Given the description of an element on the screen output the (x, y) to click on. 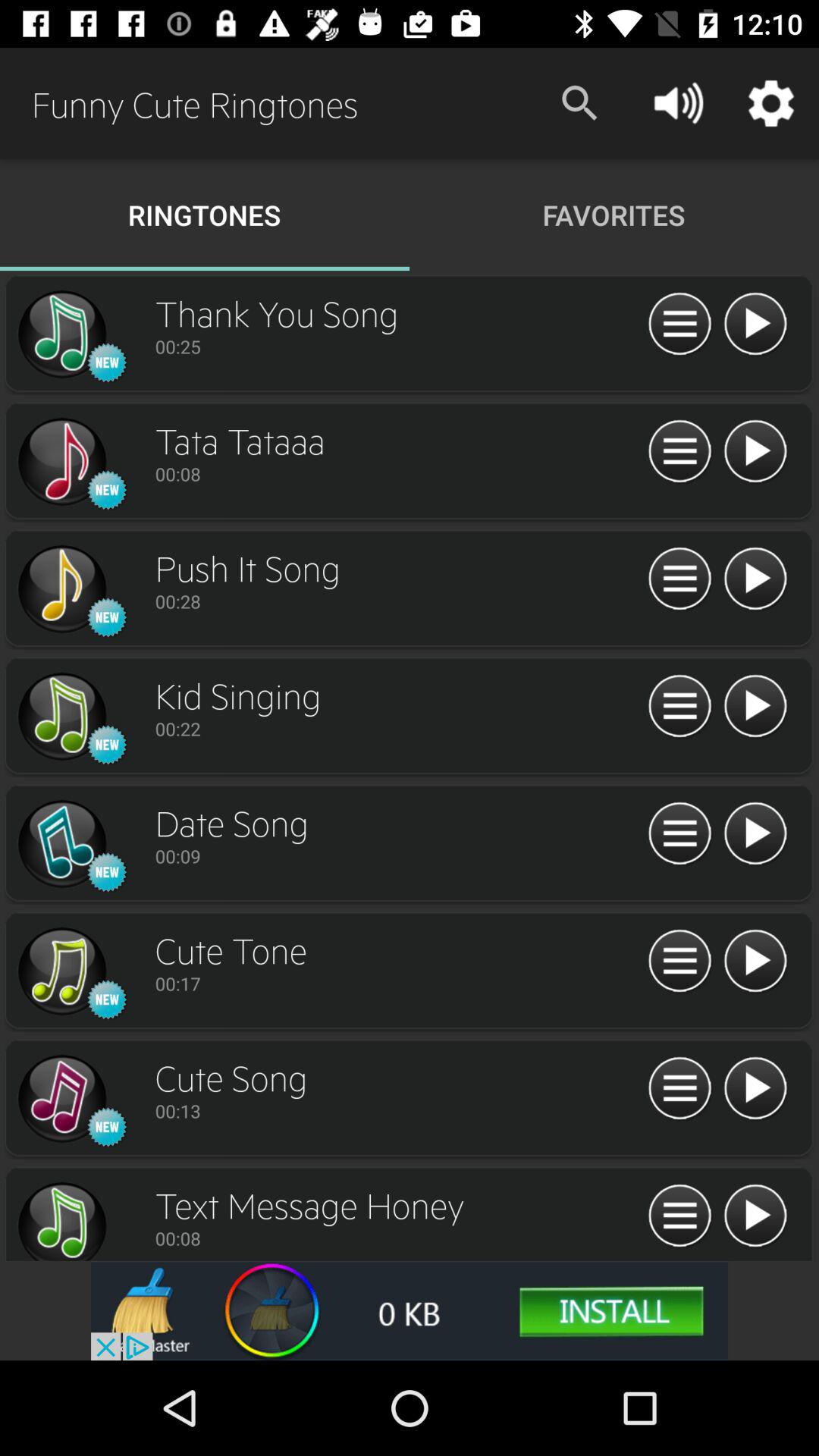
tap to see more options (679, 451)
